Given the description of an element on the screen output the (x, y) to click on. 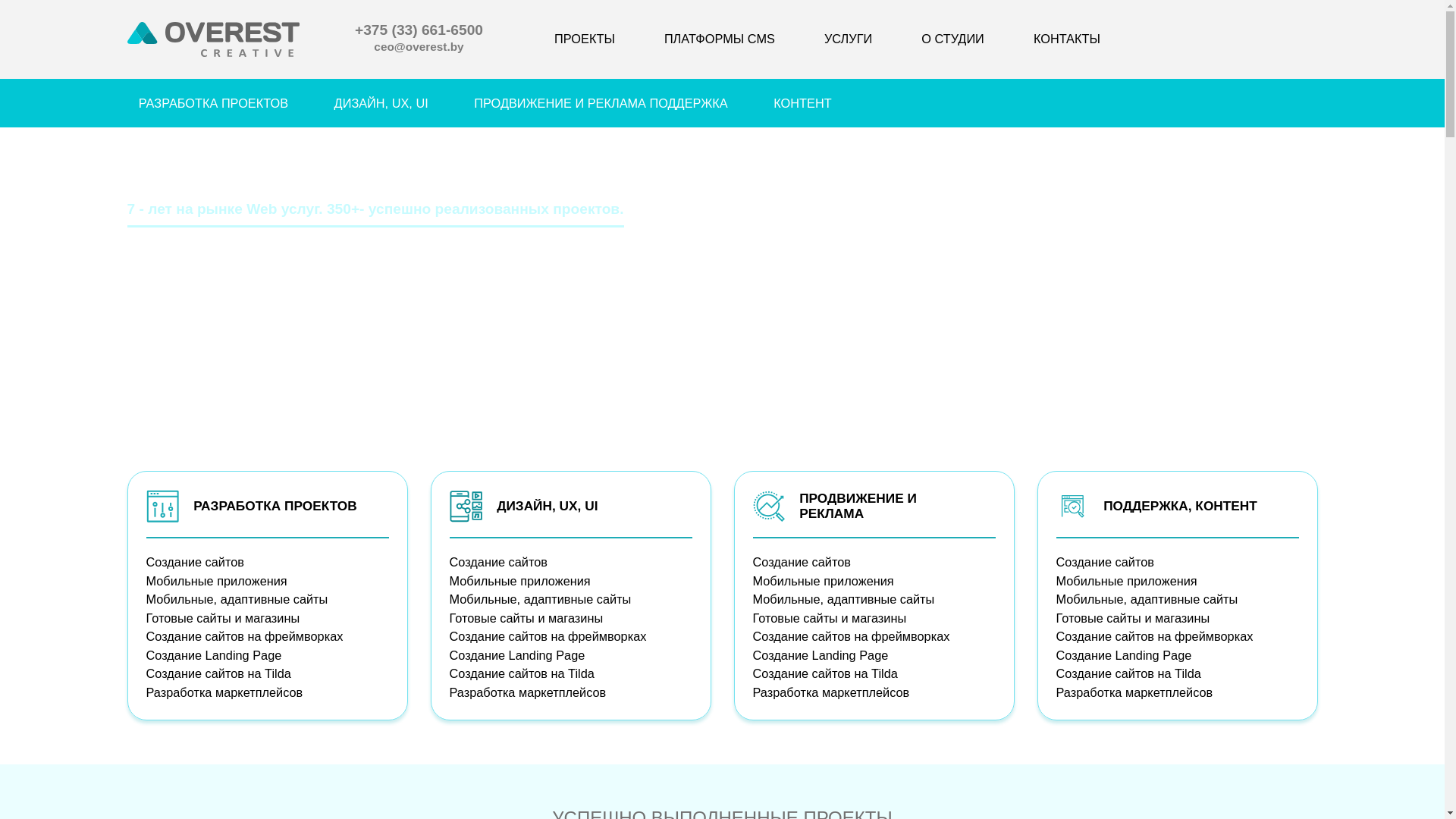
+375 (33) 661-6500 Element type: text (418, 31)
ceo@overest.by Element type: text (418, 48)
viber Element type: hover (1401, 265)
telegram Element type: hover (1401, 333)
whatsapp Element type: hover (1401, 299)
